Given the description of an element on the screen output the (x, y) to click on. 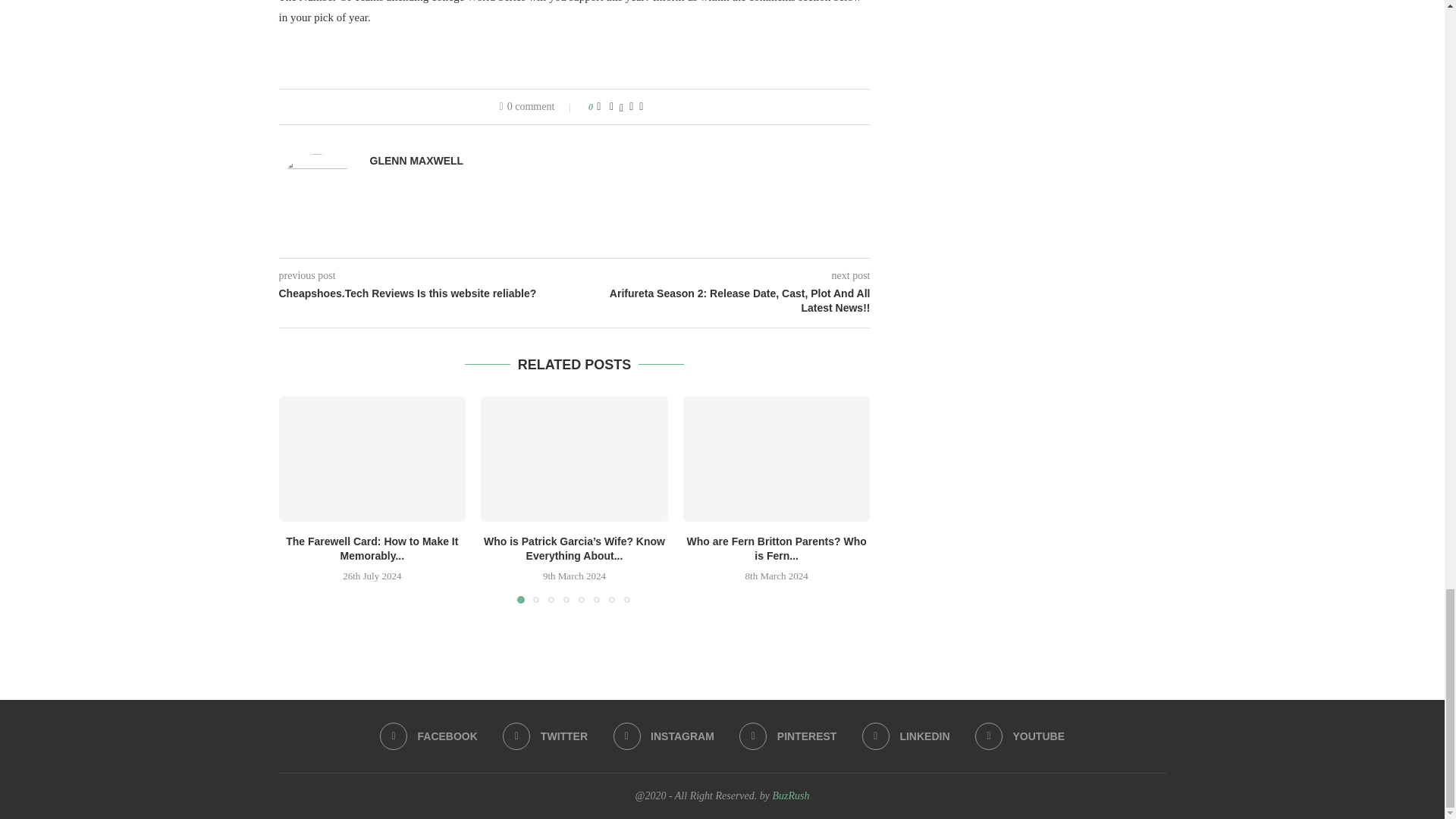
Cheapshoes.Tech Reviews Is this website reliable? (427, 294)
GLENN MAXWELL (416, 160)
